Given the description of an element on the screen output the (x, y) to click on. 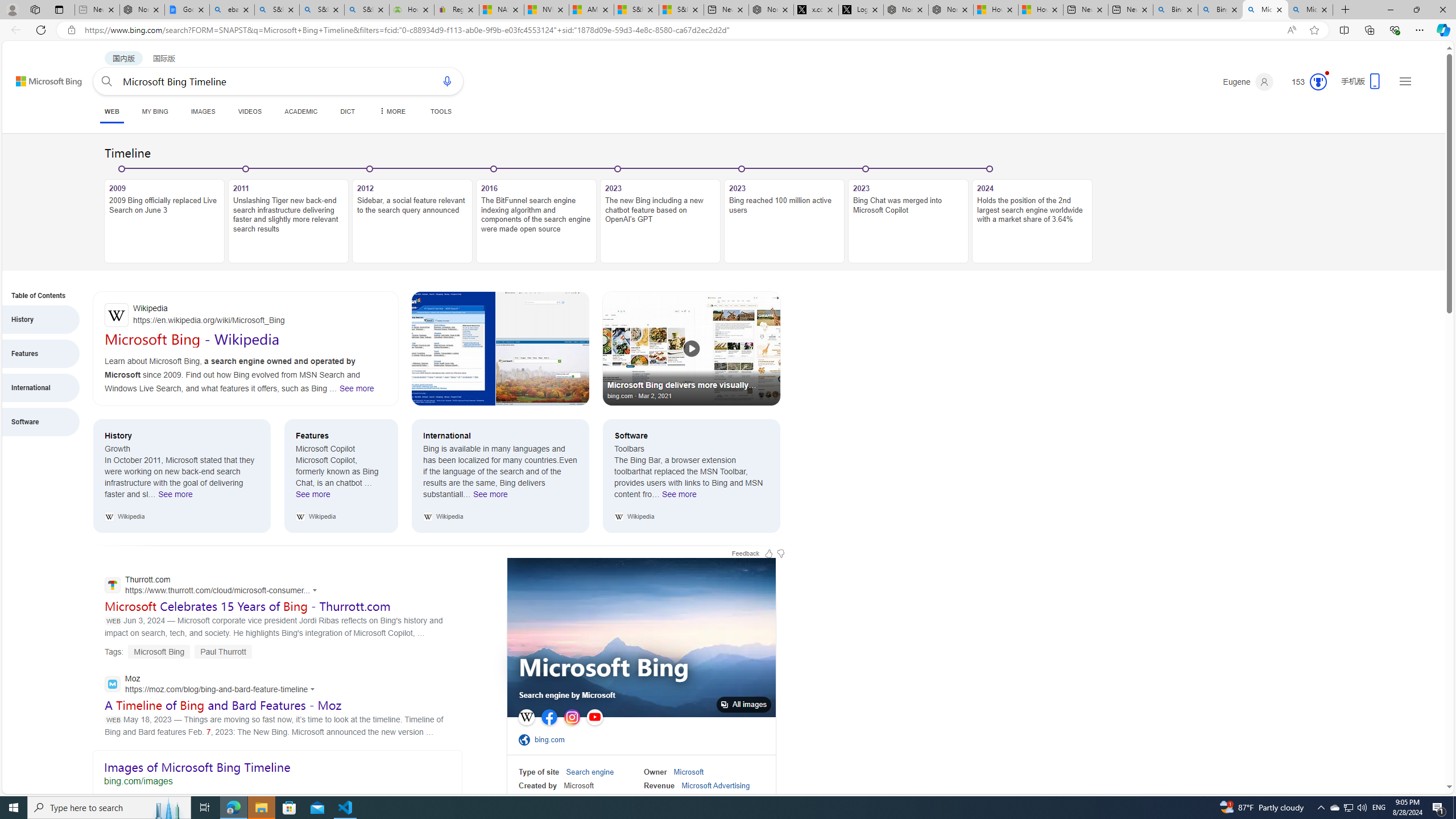
MY BING (154, 111)
Microsoft Celebrates 15 Years of Bing - Thurrott.com (247, 605)
How to Use a Monitor With Your Closed Laptop (1040, 9)
2009 2009 Bing officially replaced Live Search on June 3 (164, 220)
Instagram (571, 716)
bing.com (553, 739)
